Given the description of an element on the screen output the (x, y) to click on. 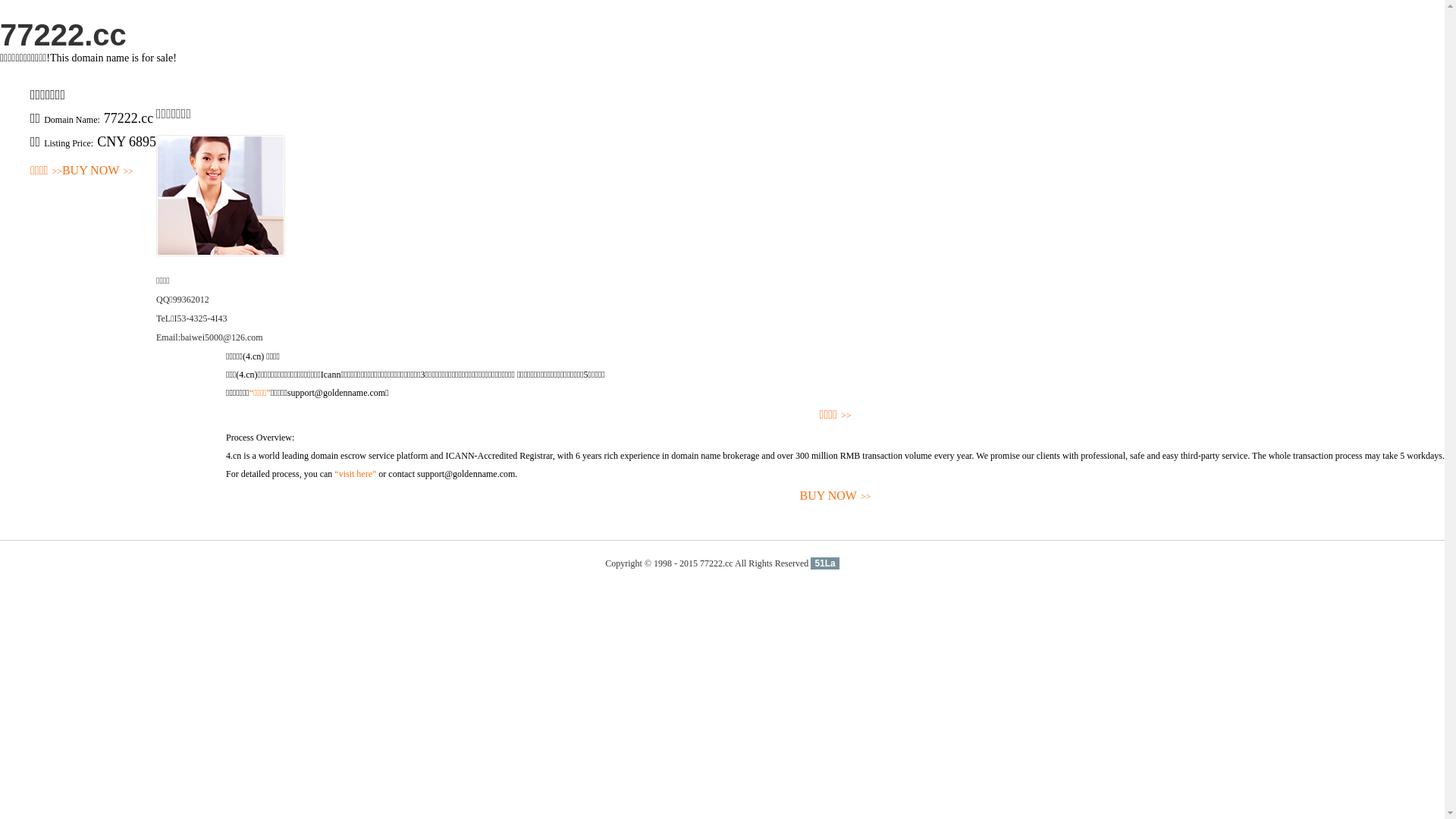
51La Element type: text (824, 563)
BUY NOW>> Element type: text (834, 496)
BUY NOW>> Element type: text (97, 170)
